Given the description of an element on the screen output the (x, y) to click on. 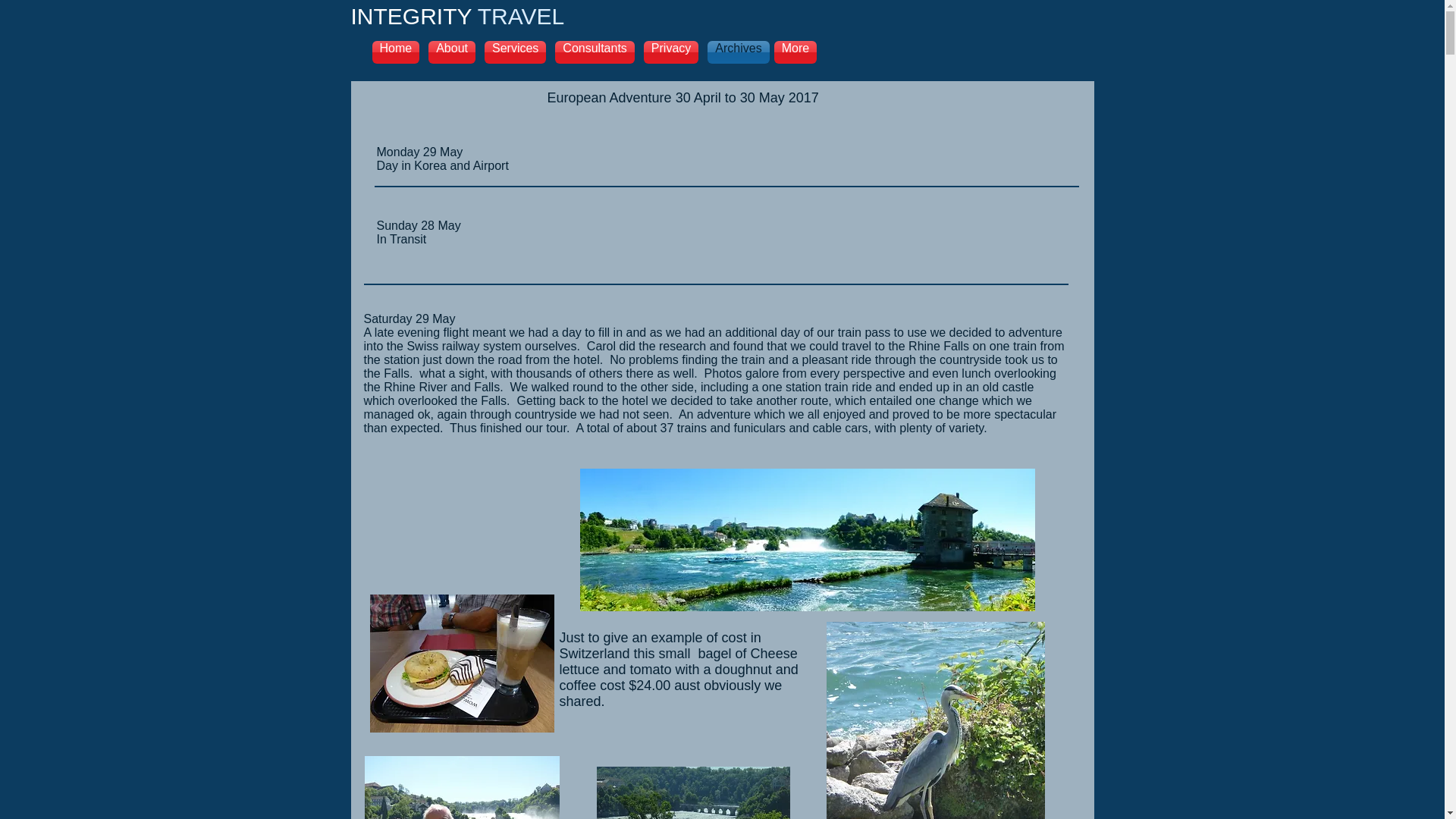
About Element type: text (451, 51)
Consultants Element type: text (594, 51)
Archives Element type: text (735, 51)
Home Element type: text (397, 51)
 TRAVEL Element type: text (517, 15)
Privacy Element type: text (670, 51)
Services Element type: text (515, 51)
